Given the description of an element on the screen output the (x, y) to click on. 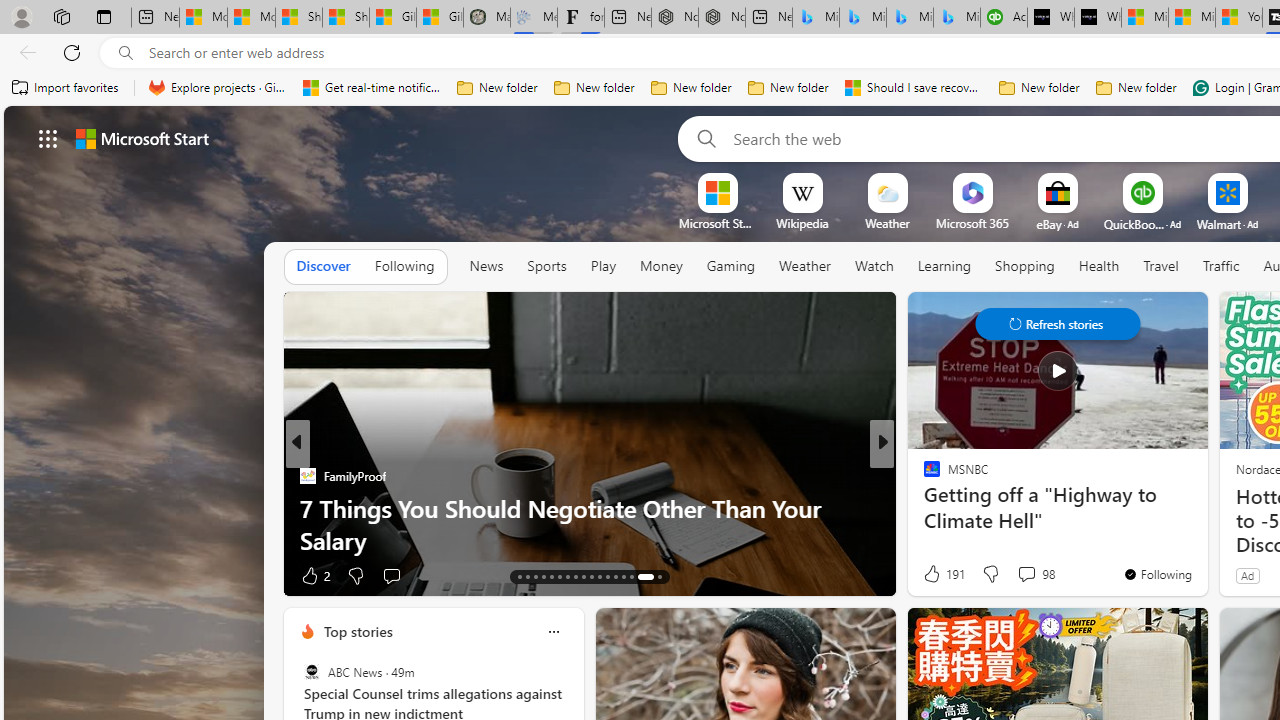
AutomationID: tab-29 (659, 576)
Top stories (357, 631)
191 Like (942, 574)
Search icon (125, 53)
FamilyProof (307, 475)
7 Things You Should Negotiate Other Than Your Salary (589, 523)
